Given the description of an element on the screen output the (x, y) to click on. 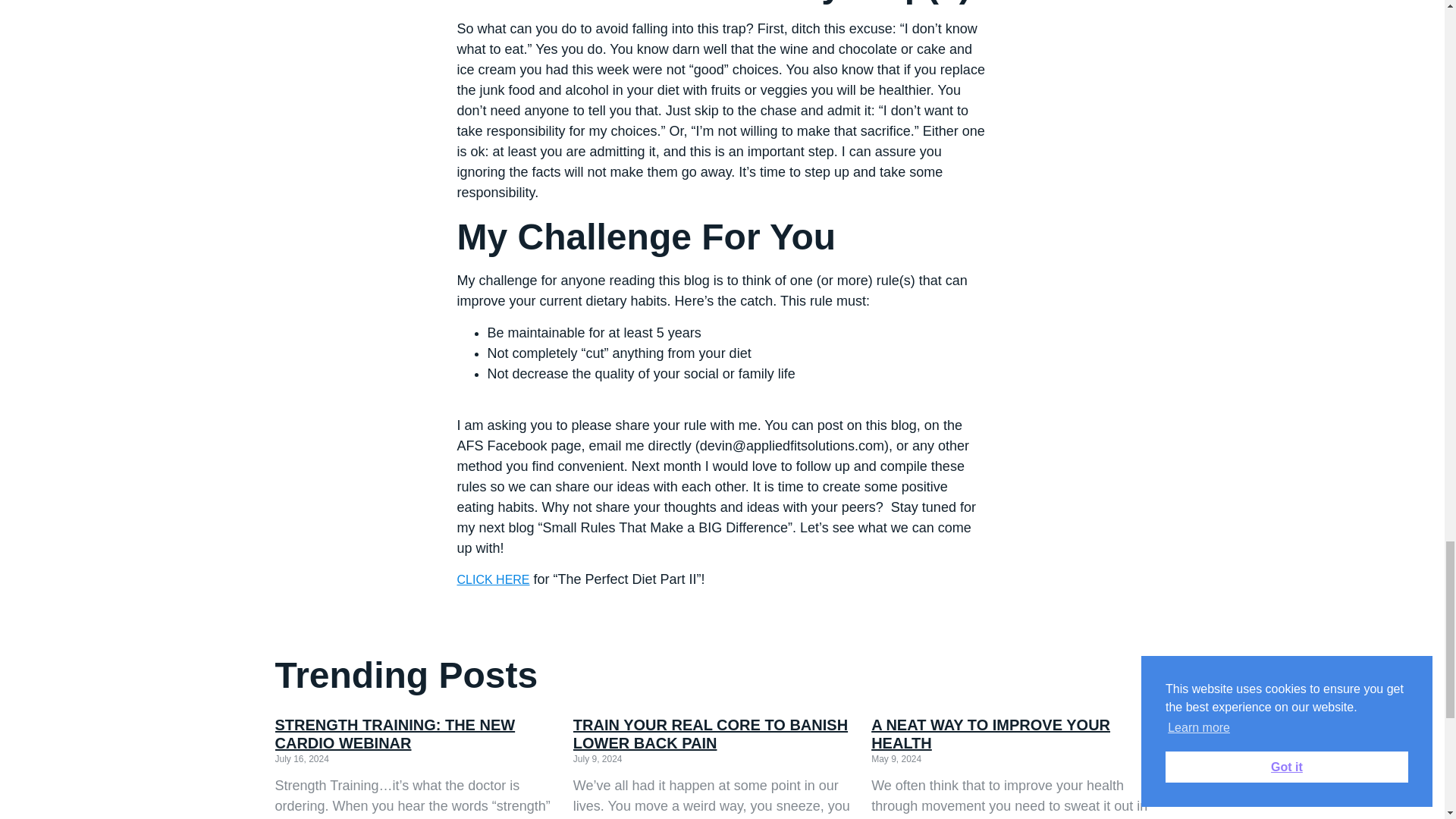
CLICK HERE (493, 579)
A NEAT WAY TO IMPROVE YOUR HEALTH (989, 733)
STRENGTH TRAINING: THE NEW CARDIO WEBINAR (395, 733)
TRAIN YOUR REAL CORE TO BANISH LOWER BACK PAIN (710, 733)
